Given the description of an element on the screen output the (x, y) to click on. 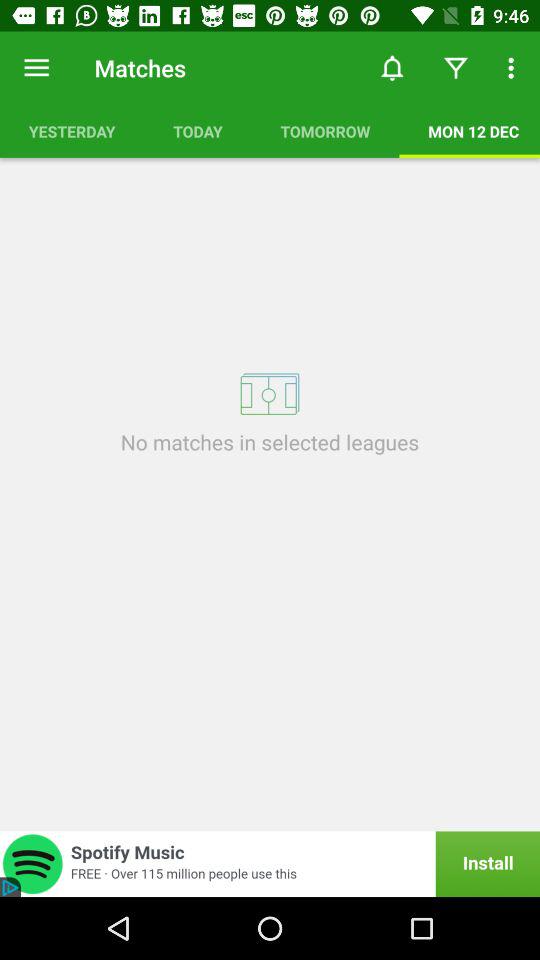
open advertisement (270, 864)
